Given the description of an element on the screen output the (x, y) to click on. 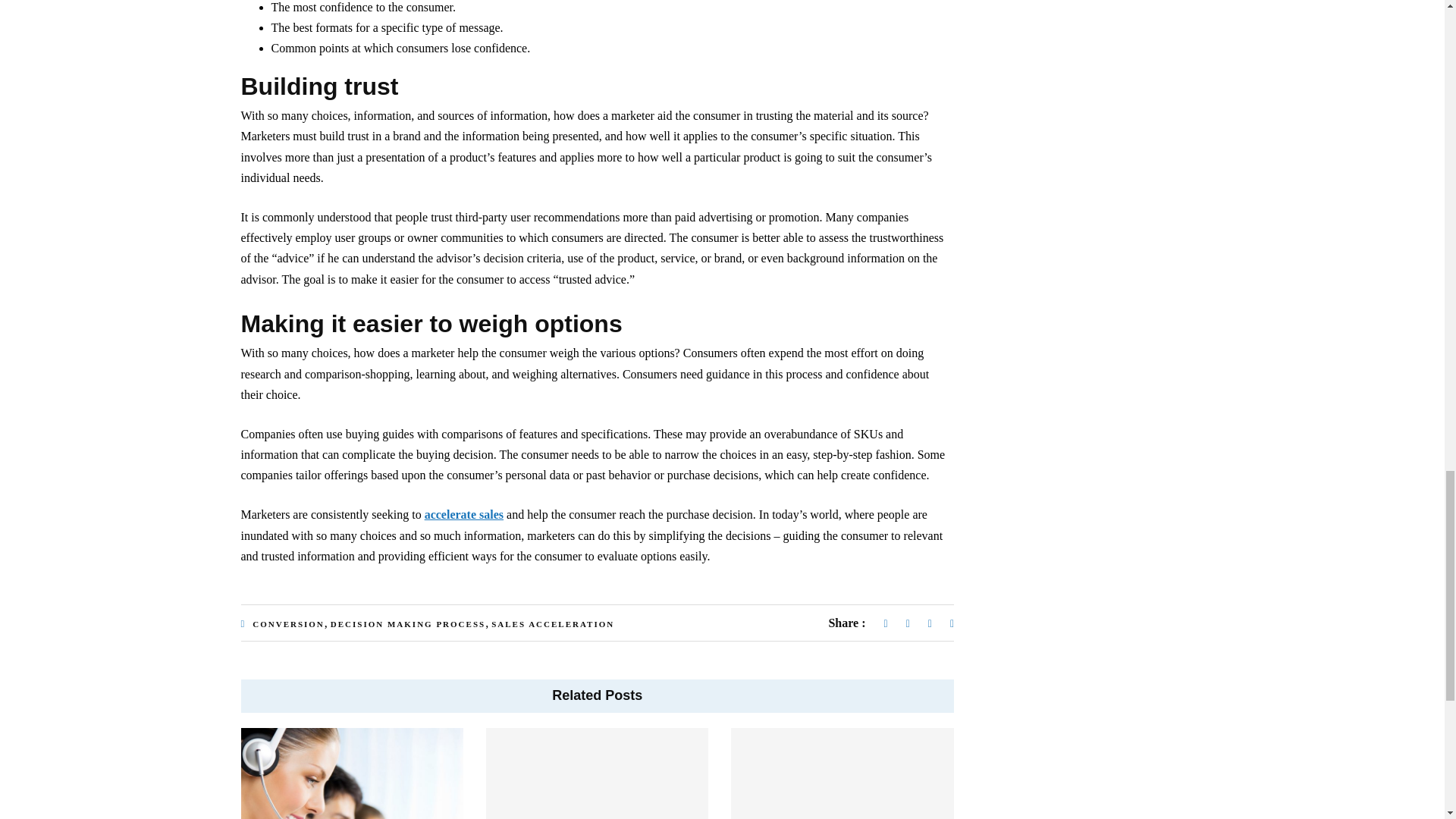
SALES ACCELERATION (553, 623)
CONVERSION (287, 623)
accelerate sales (464, 513)
DECISION MAKING PROCESS (407, 623)
